Given the description of an element on the screen output the (x, y) to click on. 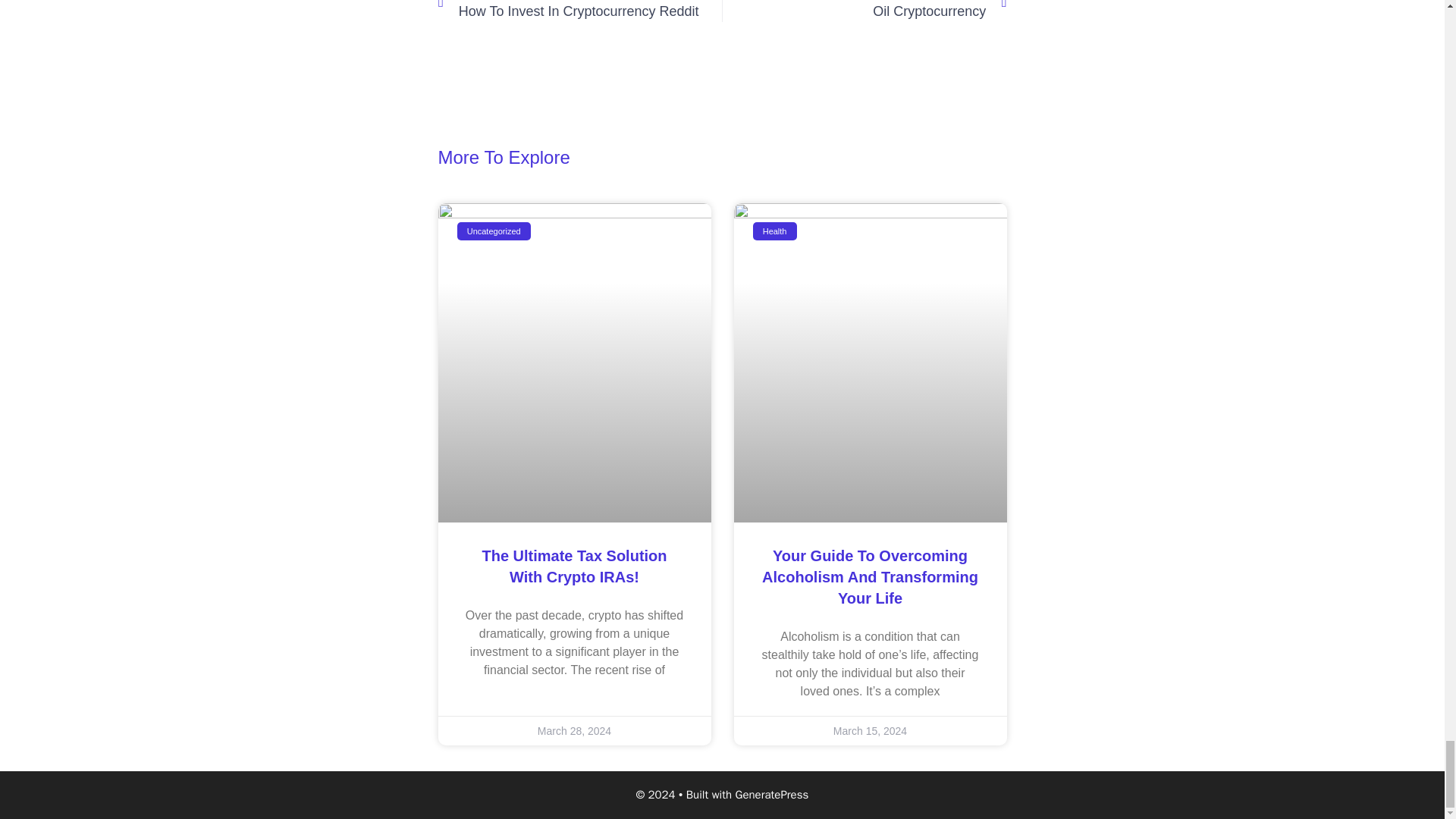
GeneratePress (580, 11)
The Ultimate Tax Solution With Crypto IRAs! (772, 794)
